Given the description of an element on the screen output the (x, y) to click on. 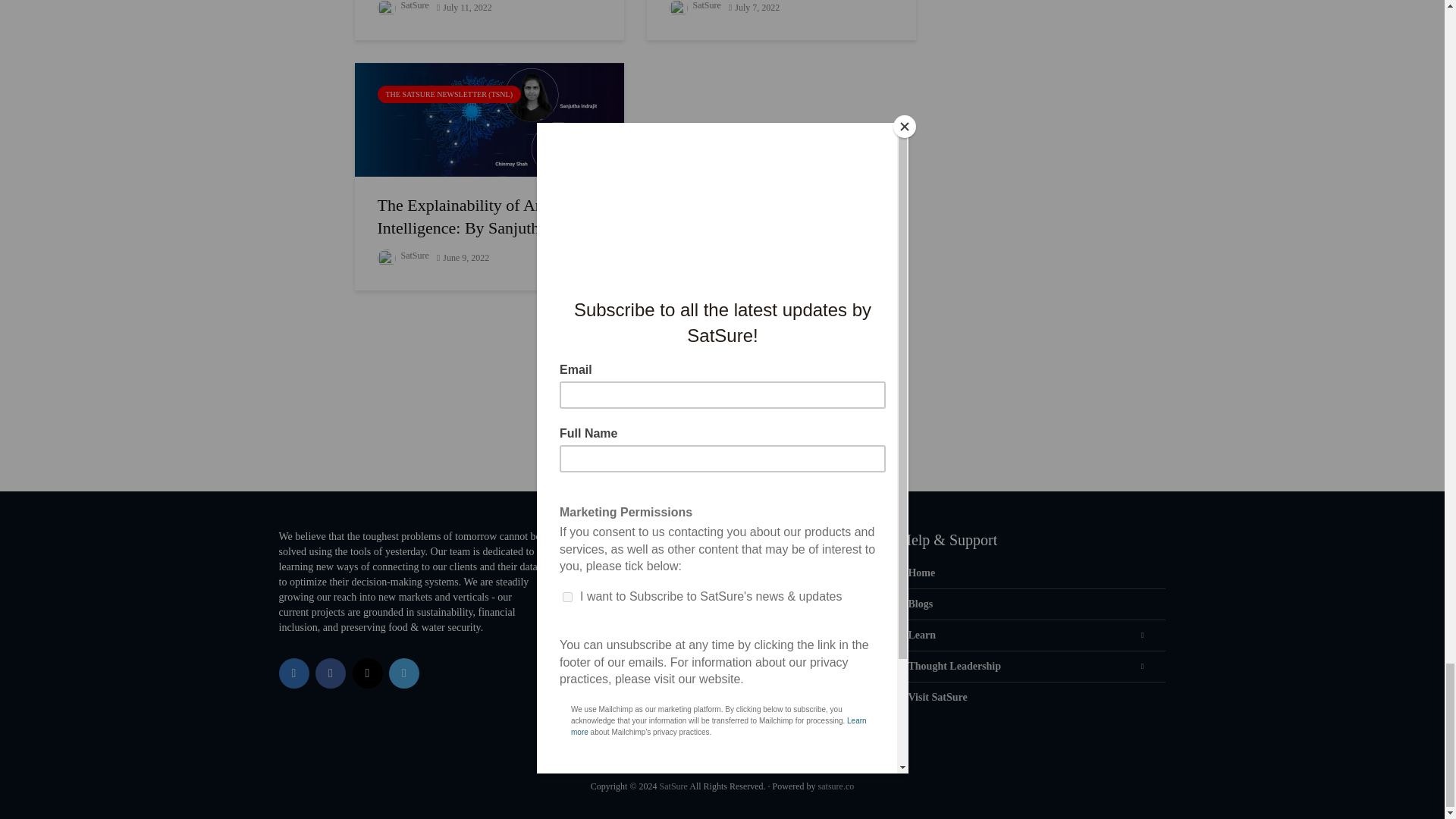
Facebook (330, 673)
Linkedin (293, 673)
Twitter (403, 673)
Instagram (366, 673)
